Given the description of an element on the screen output the (x, y) to click on. 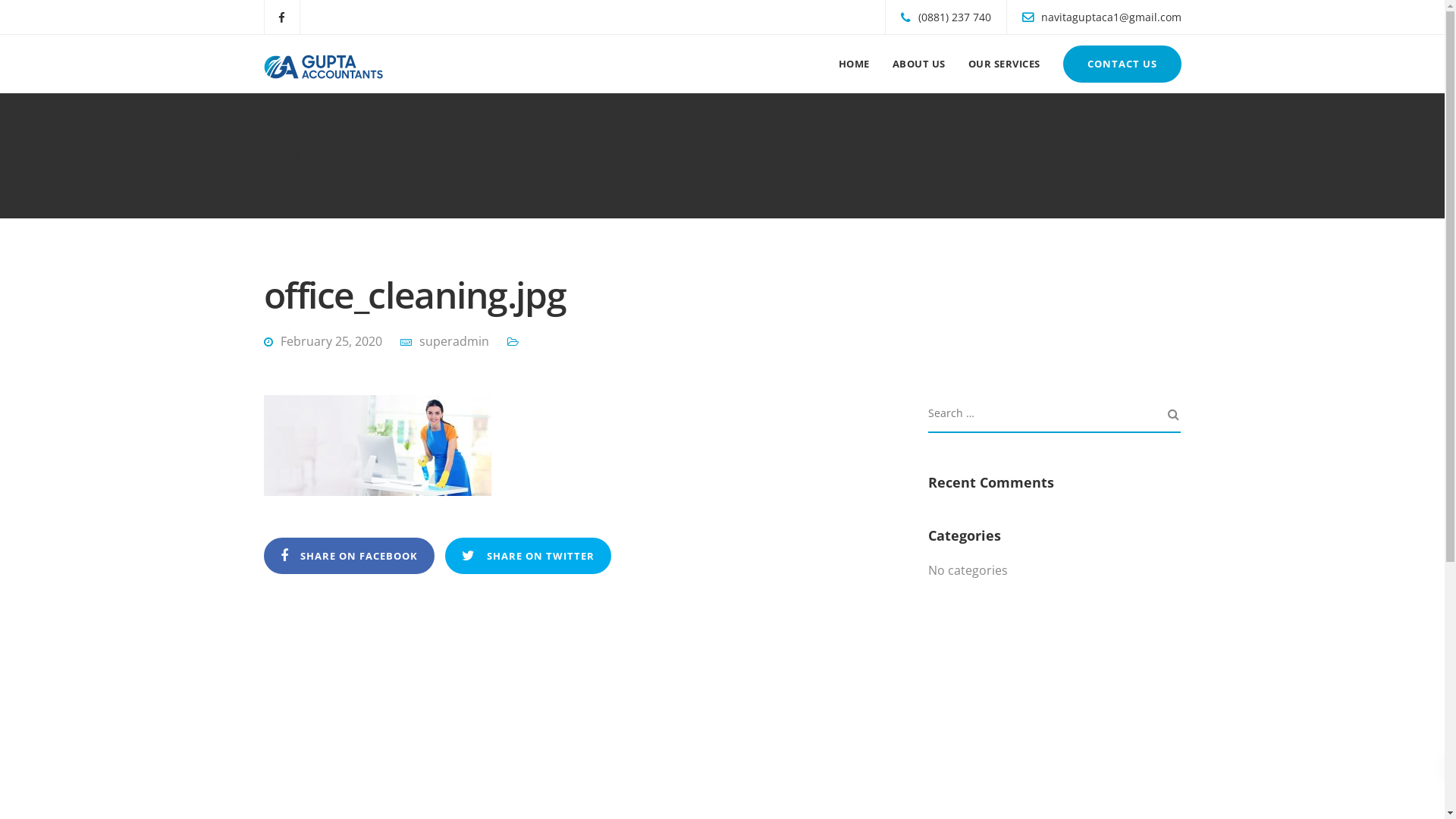
Gupta Accountant Element type: text (319, 155)
ABOUT US Element type: text (919, 63)
CONTACT US Element type: text (1122, 63)
navitaguptaca1@gmail.com Element type: text (1114, 16)
SHARE ON TWITTER Element type: text (527, 555)
SHARE ON FACEBOOK Element type: text (348, 555)
OUR SERVICES Element type: text (1004, 63)
(0881) 237 740 Element type: text (957, 16)
HOME Element type: text (853, 63)
superadmin Element type: text (453, 340)
